Given the description of an element on the screen output the (x, y) to click on. 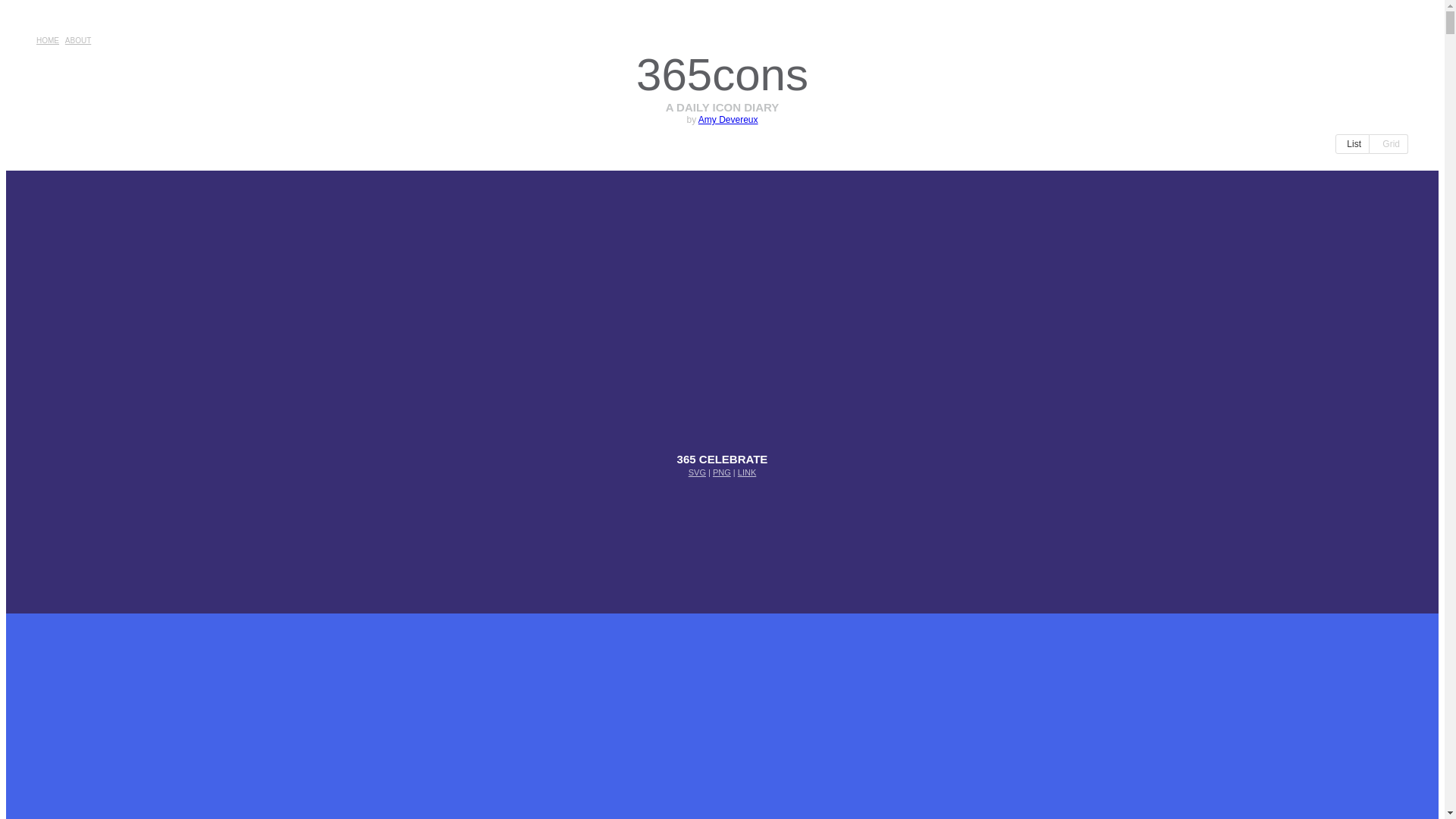
List Element type: text (1352, 143)
LINK Element type: text (746, 471)
Amy Devereux Element type: text (728, 119)
Grid Element type: text (1388, 143)
HOME Element type: text (47, 41)
SVG Element type: text (697, 471)
ABOUT Element type: text (78, 41)
PNG Element type: text (721, 471)
